Given the description of an element on the screen output the (x, y) to click on. 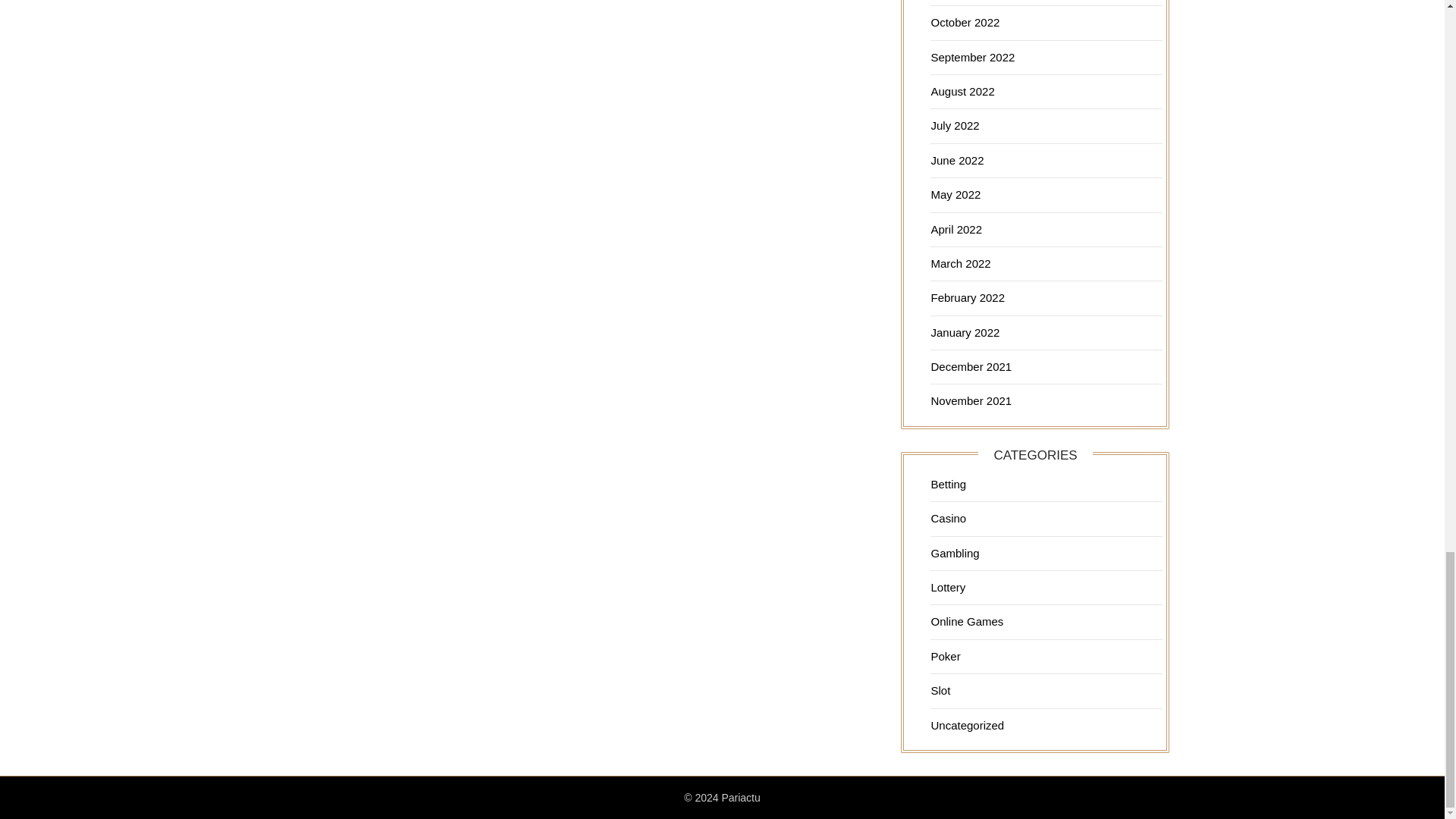
October 2022 (964, 21)
September 2022 (972, 56)
August 2022 (962, 91)
July 2022 (954, 124)
